Given the description of an element on the screen output the (x, y) to click on. 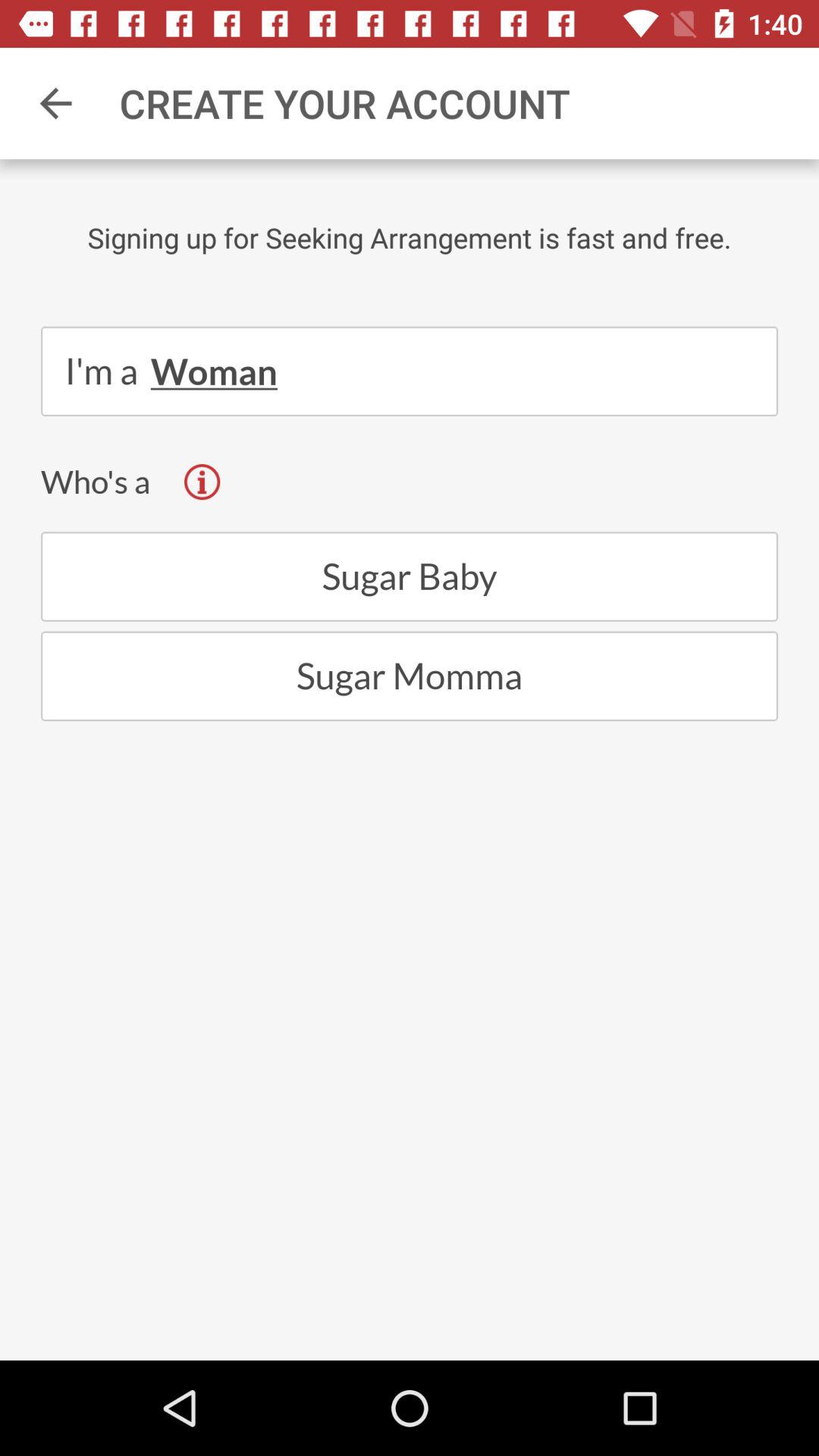
tap icon next to the create your account (55, 103)
